Given the description of an element on the screen output the (x, y) to click on. 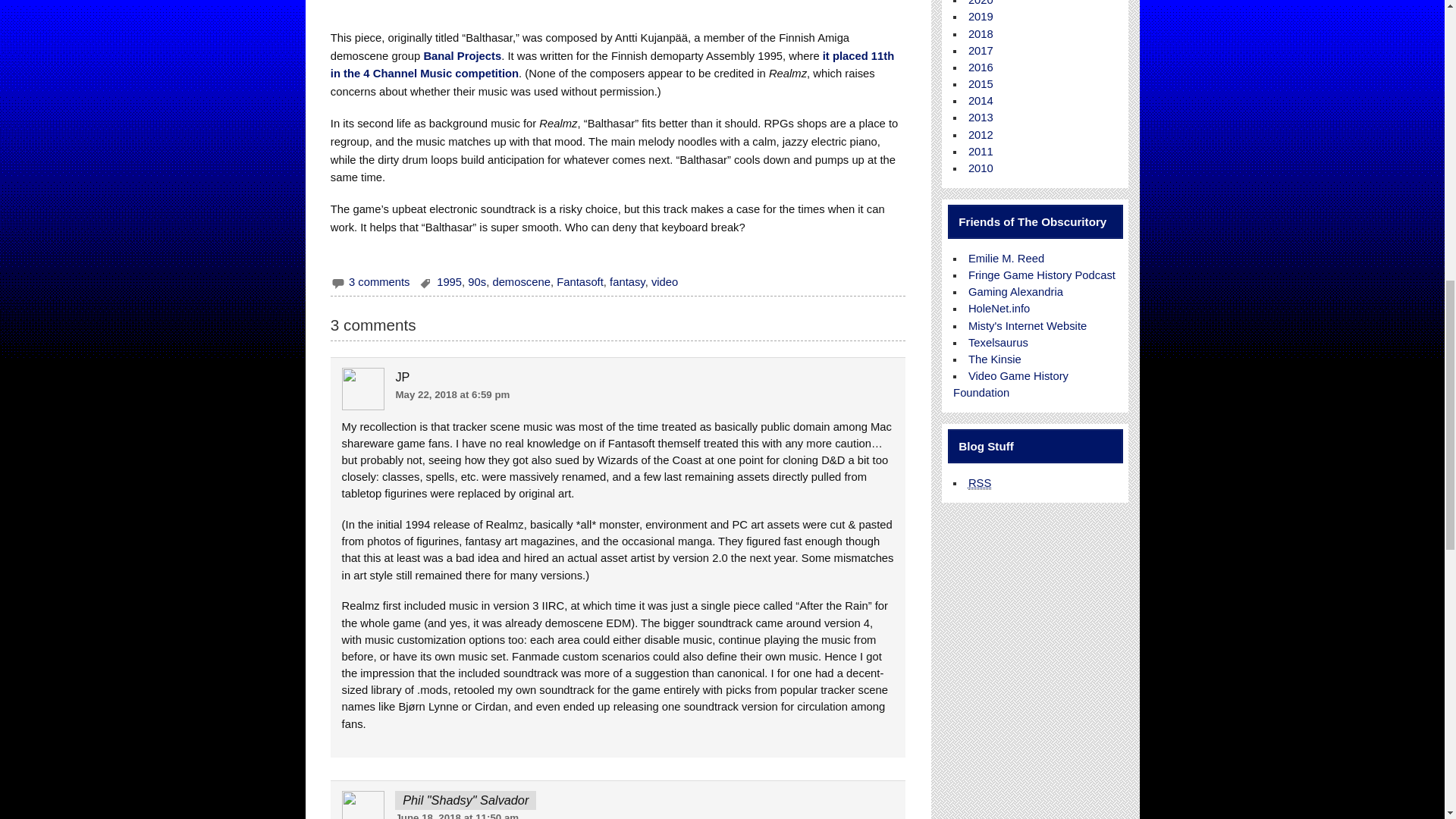
90s (476, 282)
Fantasoft (580, 282)
demoscene (521, 282)
May 22, 2018 at 6:59 pm (451, 393)
it placed 11th in the 4 Channel Music competition (612, 64)
June 18, 2018 at 11:50 am (456, 815)
Banal Projects (461, 55)
3 comments (379, 282)
1995 (448, 282)
fantasy (627, 282)
